Given the description of an element on the screen output the (x, y) to click on. 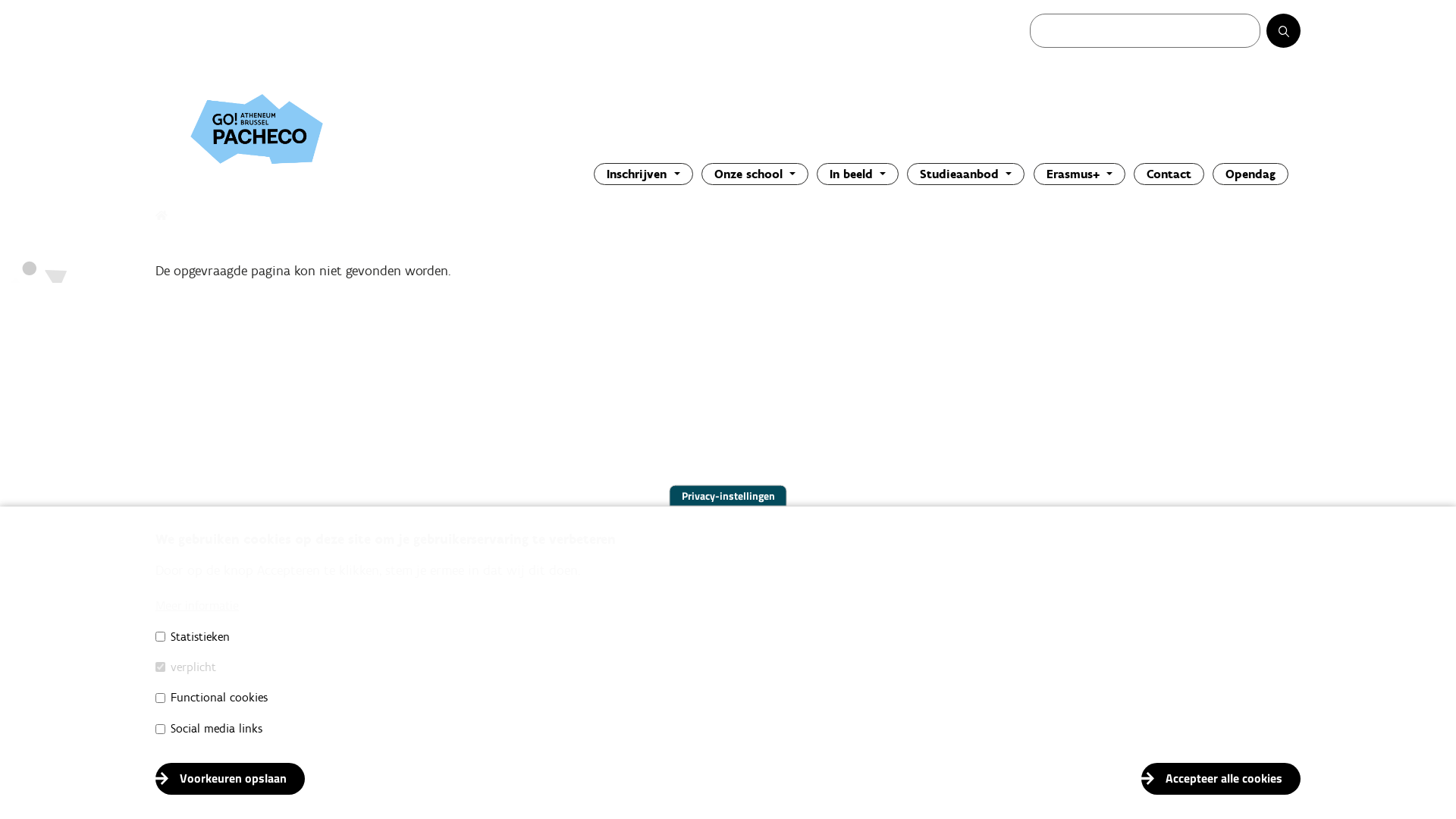
Toestemming intrekken Element type: text (1319, 770)
Privacy-instellingen Element type: text (727, 495)
Meer informatie Element type: text (196, 605)
Home Element type: text (162, 216)
Facebook Element type: text (1147, 695)
Sitemap Element type: text (1152, 649)
Voorkeuren opslaan Element type: text (229, 778)
In beeld Element type: text (857, 174)
Opendag Element type: text (1250, 174)
02 511 07 42 Element type: text (224, 694)
Naar de inhoud Element type: text (0, 0)
Erasmus+ Element type: text (1079, 174)
Paddle CMS Platform Element type: hover (1262, 794)
Inschrijven Element type: text (642, 174)
Onze school Element type: text (754, 174)
Ga naar de homepage Element type: hover (306, 128)
Studieaanbod Element type: text (965, 174)
Accepteer alle cookies Element type: text (1220, 778)
Instagram Element type: text (1146, 719)
Contact Element type: text (1168, 174)
info@atheneumbrussel.be Element type: text (264, 718)
Smartschool Element type: text (1139, 673)
Zoeken Element type: text (1297, 35)
